Given the description of an element on the screen output the (x, y) to click on. 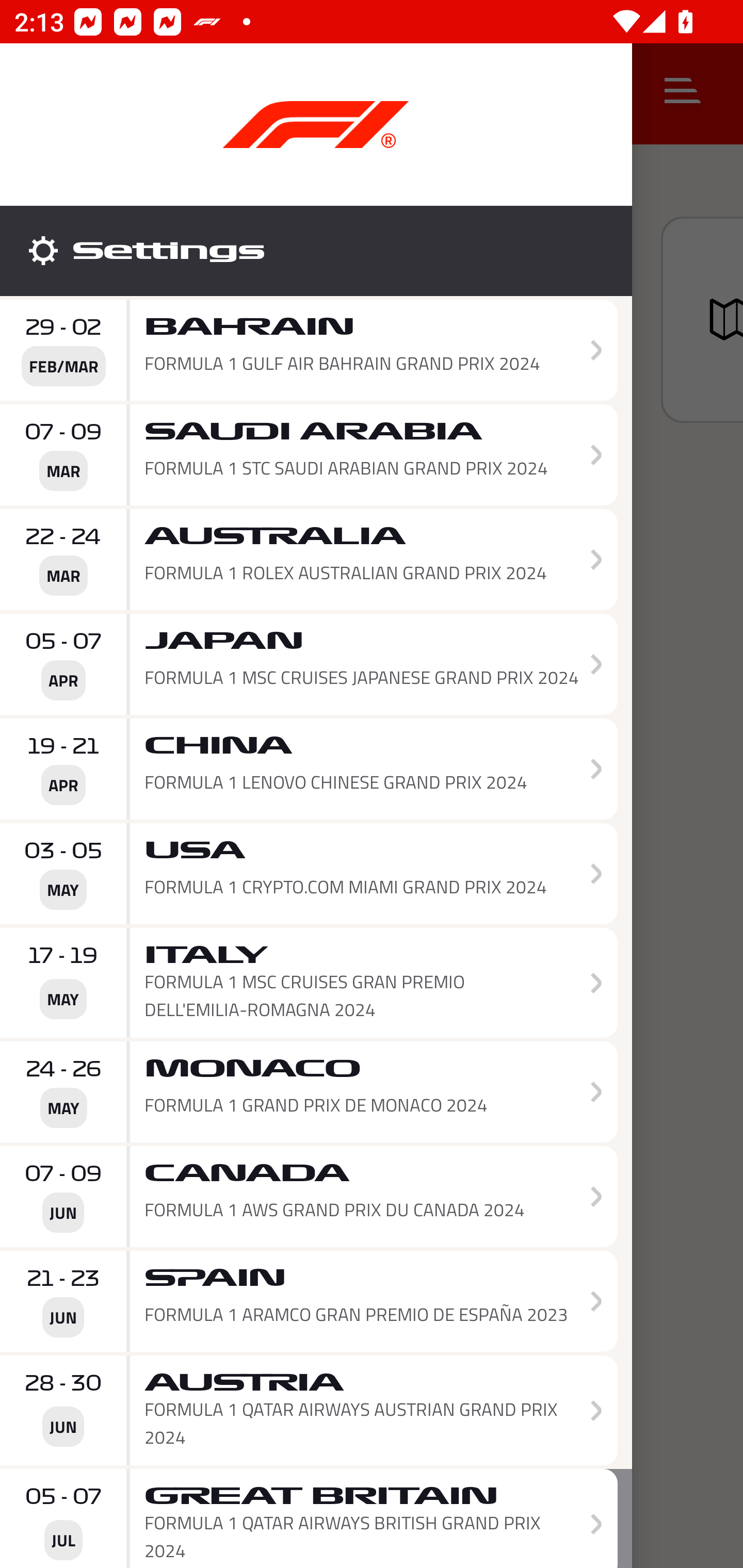
Settings (316, 250)
